Given the description of an element on the screen output the (x, y) to click on. 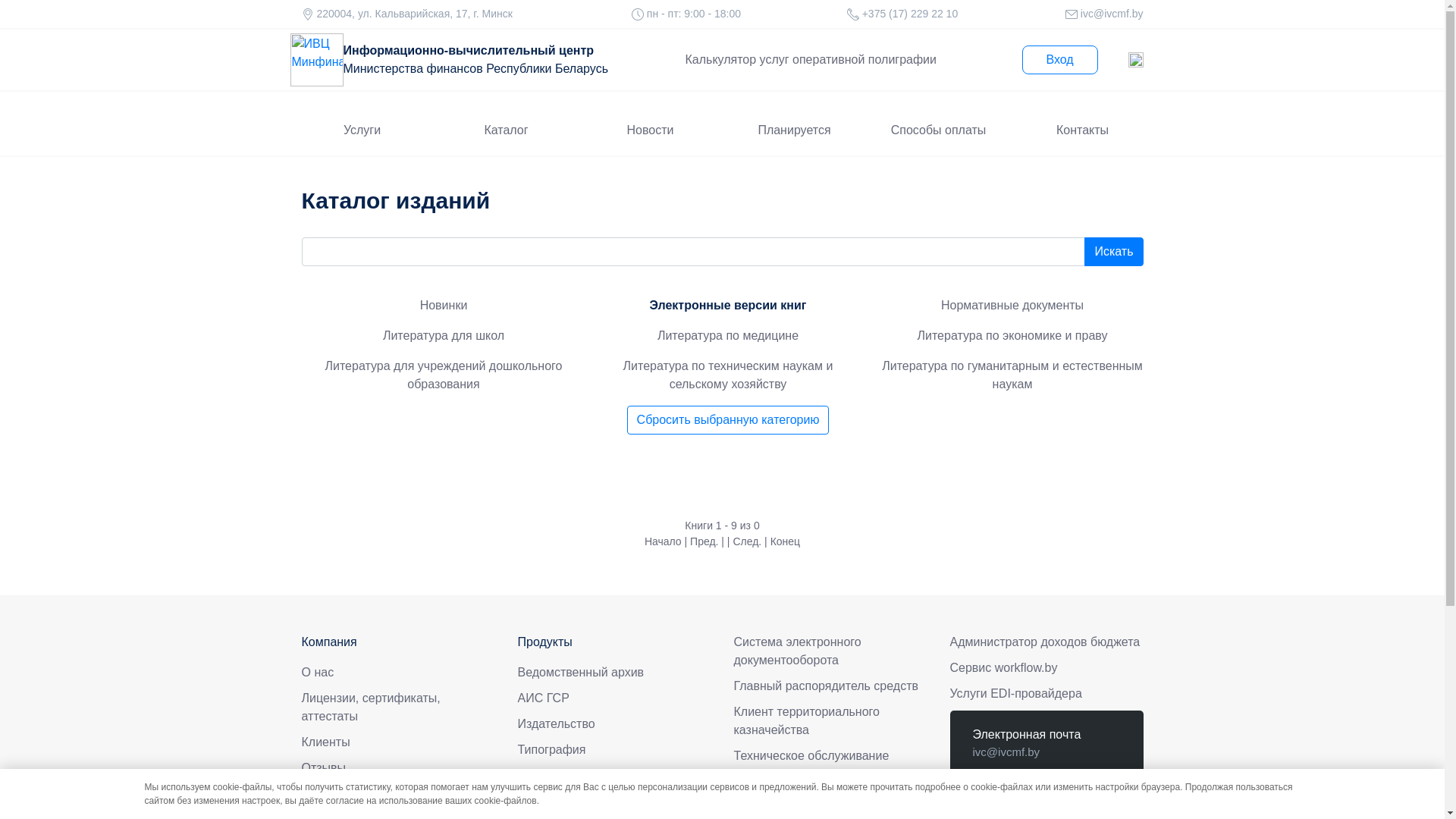
ivc@ivcmf.by Element type: text (1005, 751)
+375 (17) 229 22 10 Element type: text (908, 13)
+375 (17) 229 22 10 Element type: text (1023, 799)
ivc@ivcmf.by Element type: text (1110, 13)
